Given the description of an element on the screen output the (x, y) to click on. 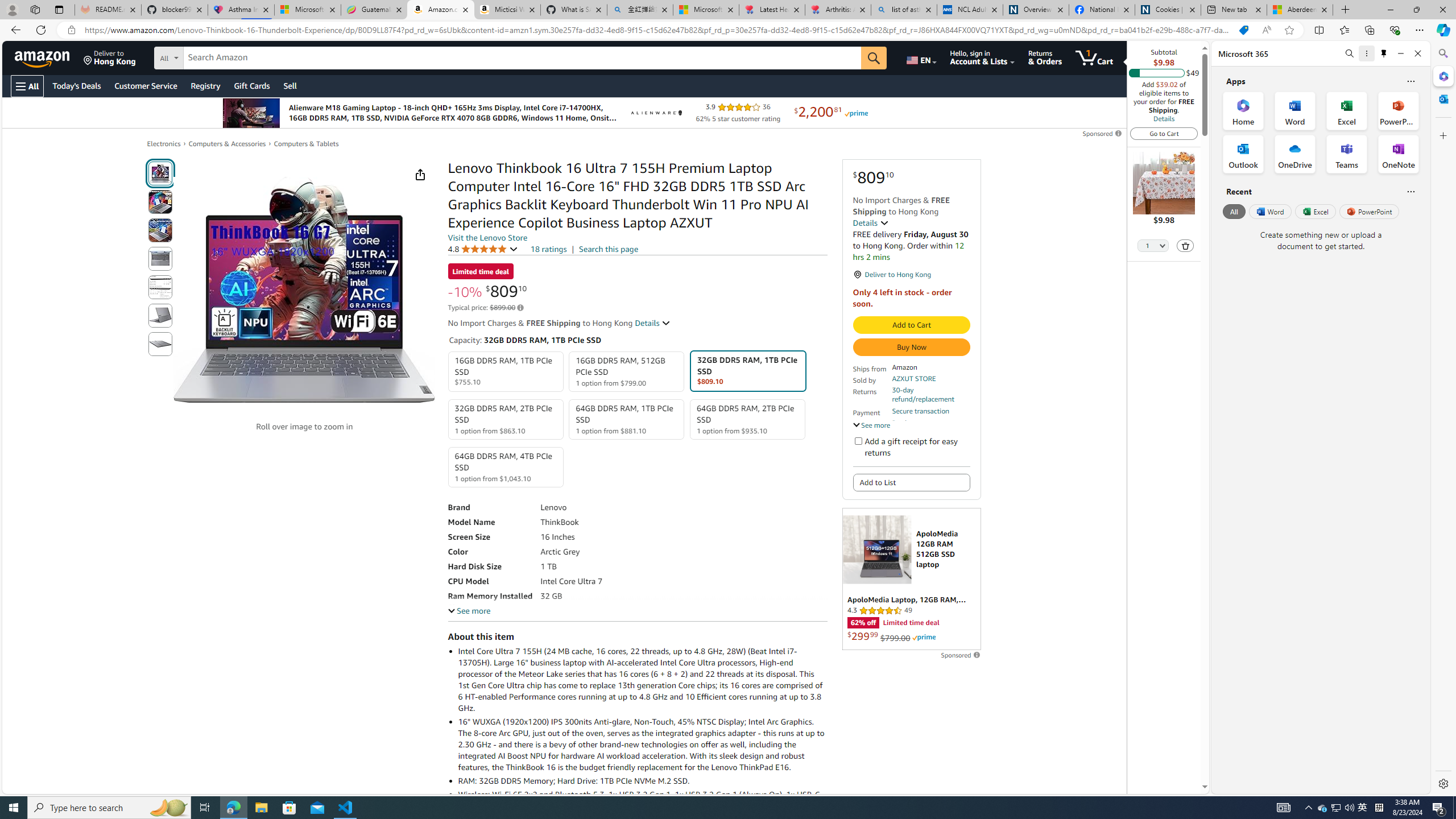
AZXUT STORE (913, 378)
64GB DDR5 RAM, 2TB PCIe SSD 1 option from $935.10 (747, 418)
Search Amazon (522, 57)
Is this helpful? (1410, 191)
Excel Office App (1346, 110)
Word (1269, 210)
Hello, sign in Account & Lists (982, 57)
